Given the description of an element on the screen output the (x, y) to click on. 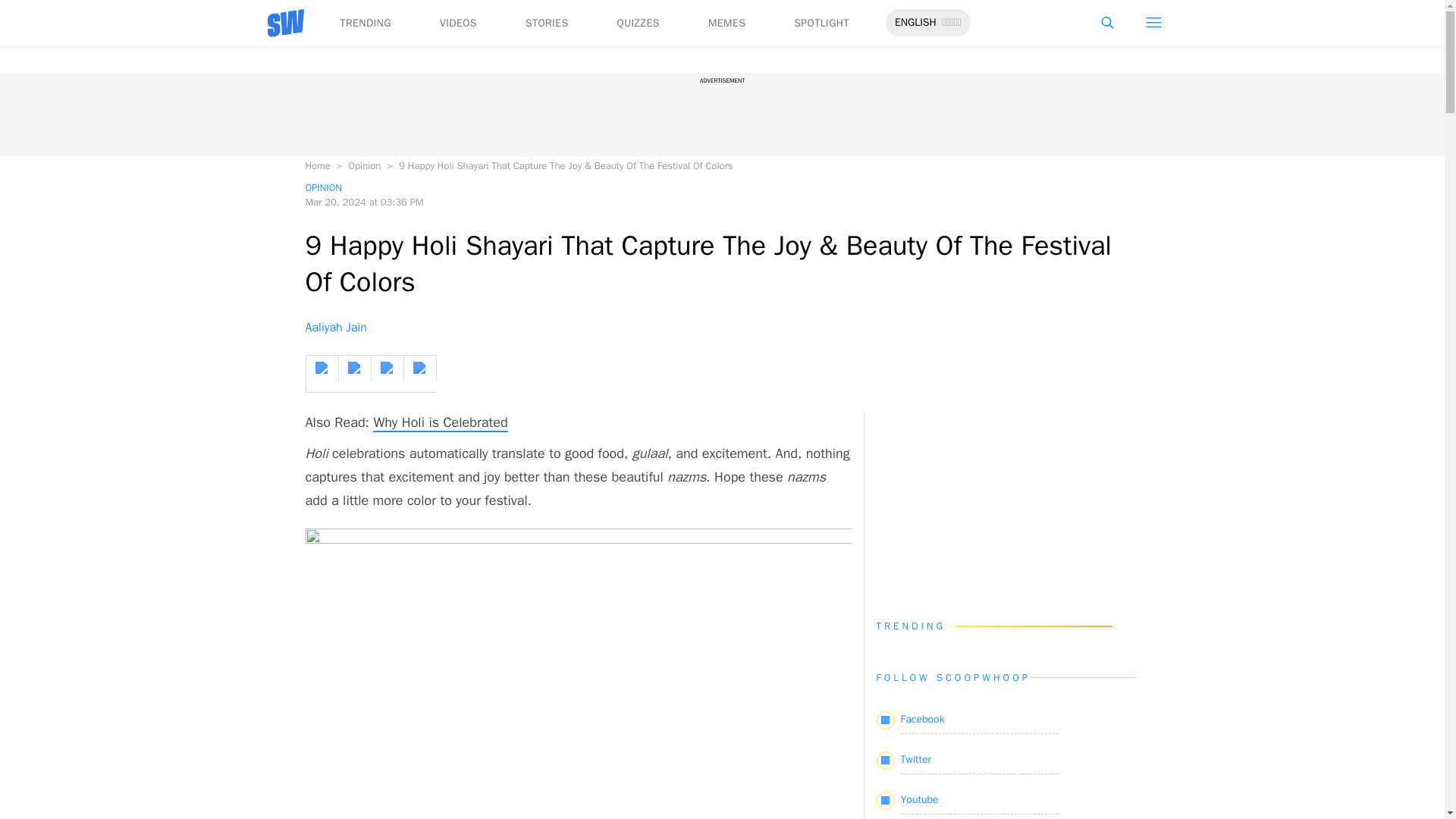
STORIES (547, 22)
SPOTLIGHT (820, 22)
MEMES (726, 22)
ENGLISH (915, 22)
QUIZZES (638, 22)
VIDEOS (458, 22)
TRENDING (364, 22)
